Given the description of an element on the screen output the (x, y) to click on. 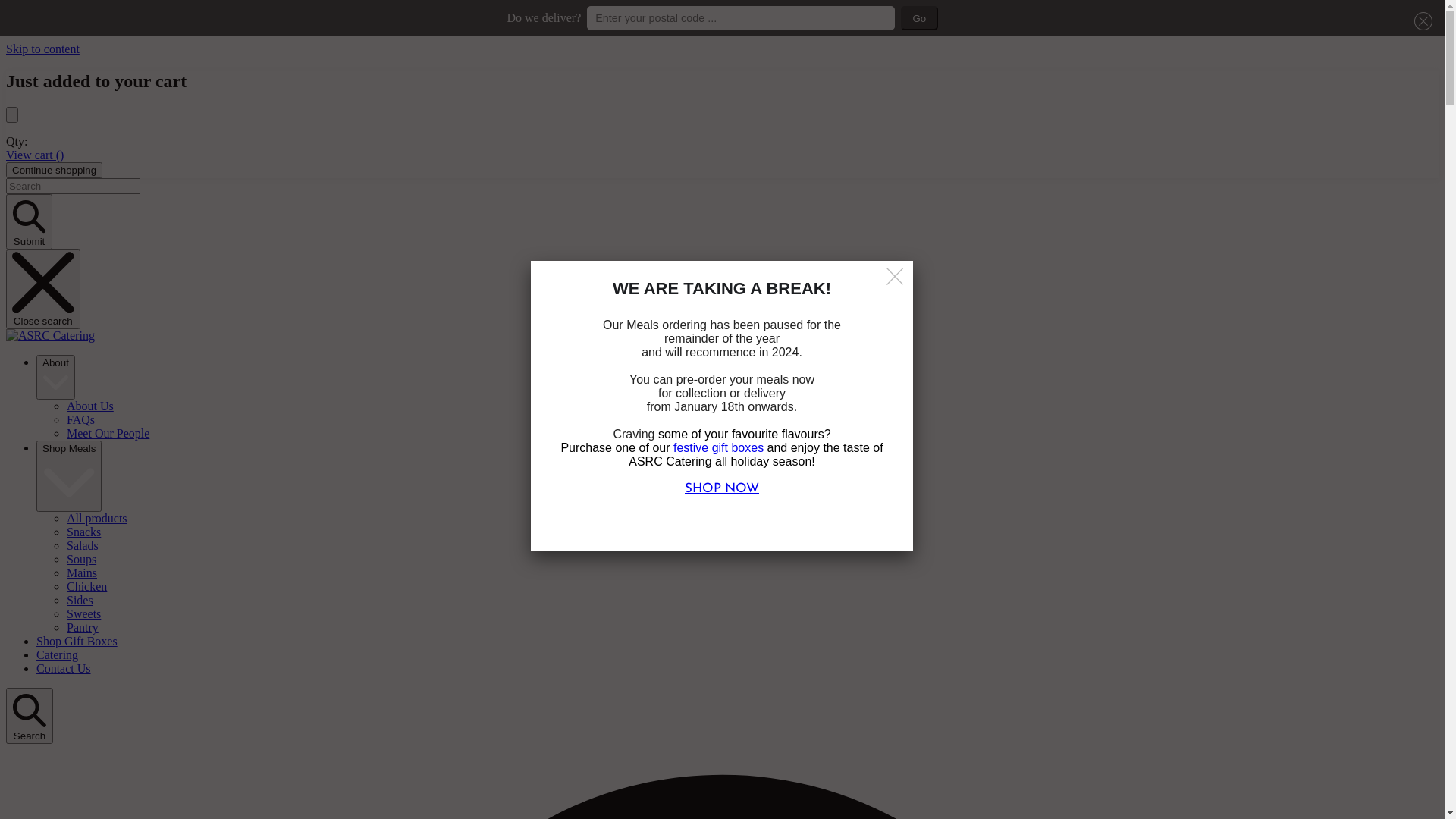
Soups Element type: text (81, 558)
About Us Element type: text (89, 405)
Close search Element type: text (43, 289)
Shop Meals Element type: text (68, 475)
Chicken Element type: text (86, 586)
Search Element type: text (29, 715)
Meet Our People Element type: text (107, 432)
Sides Element type: text (79, 599)
Contact Us Element type: text (63, 668)
Shop Gift Boxes Element type: text (76, 640)
festive gift boxes Element type: text (718, 447)
FAQs Element type: text (80, 419)
Continue shopping Element type: text (54, 170)
SHOP NOW Element type: text (721, 488)
Snacks Element type: text (83, 531)
Pantry Element type: text (82, 627)
Submit Element type: text (29, 221)
Sweets Element type: text (83, 613)
Skip to content Element type: text (42, 48)
All products Element type: text (96, 517)
Mains Element type: text (81, 572)
Close Element type: hover (895, 276)
About Element type: text (55, 376)
Go Element type: text (918, 18)
Salads Element type: text (82, 545)
Catering Element type: text (57, 654)
View cart () Element type: text (34, 154)
